Given the description of an element on the screen output the (x, y) to click on. 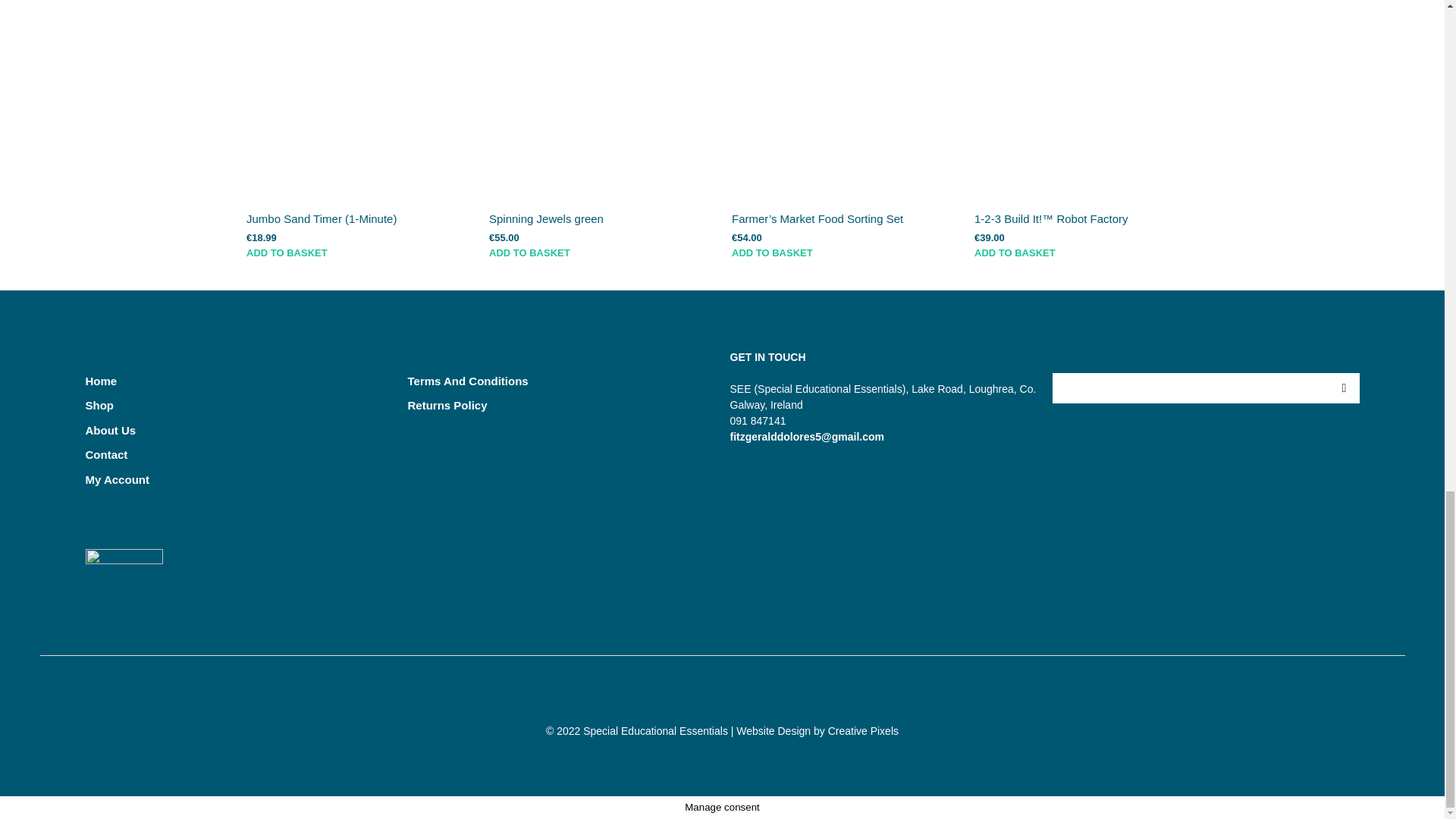
Search (1342, 388)
Search (1342, 388)
